Given the description of an element on the screen output the (x, y) to click on. 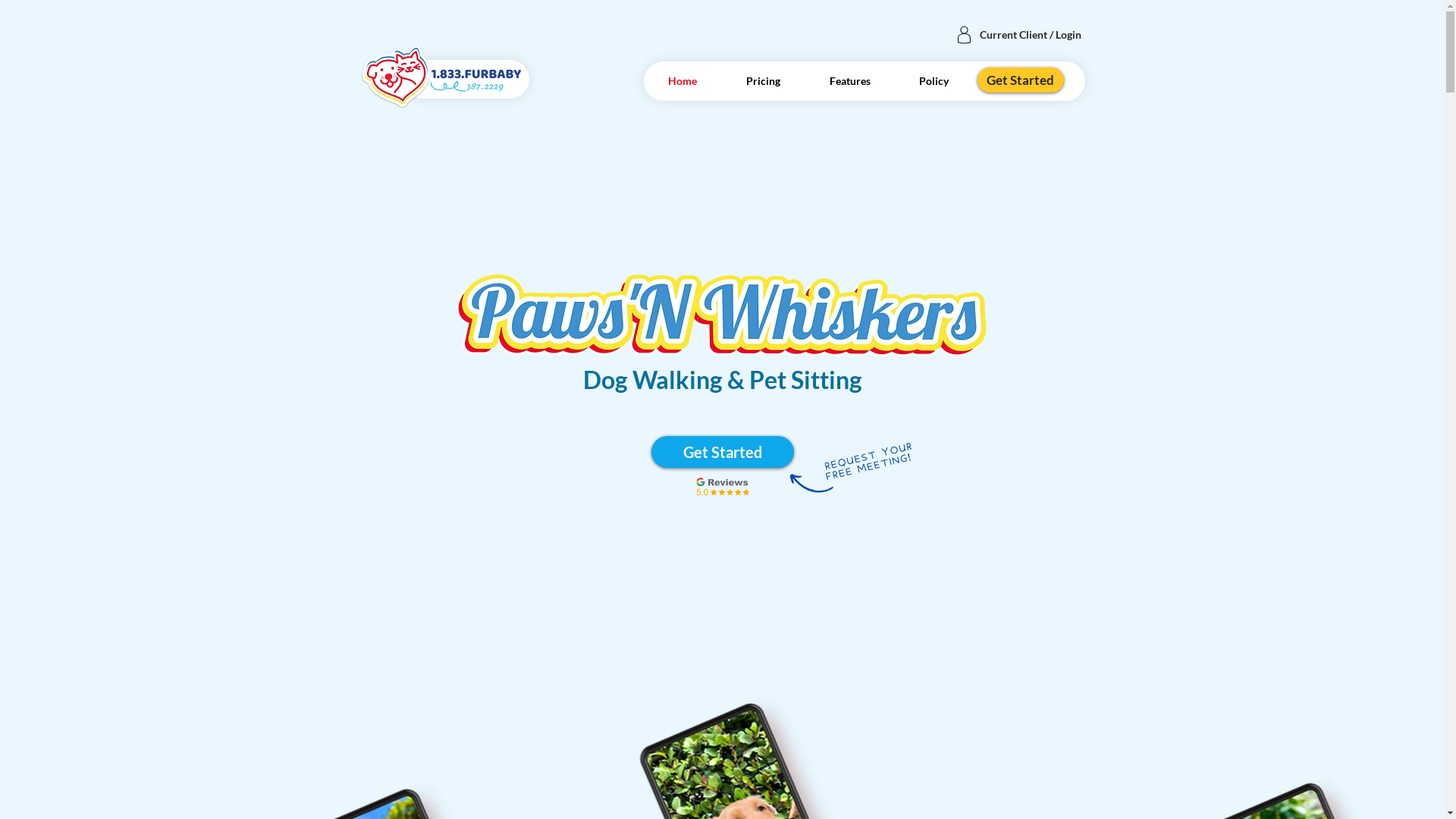
Policy Element type: text (933, 80)
Features Element type: text (849, 80)
Pricing Element type: text (763, 80)
Current Client / Login Element type: text (1030, 34)
Home Element type: text (682, 80)
Get Started Element type: text (721, 451)
Get Started Element type: text (1019, 79)
